Given the description of an element on the screen output the (x, y) to click on. 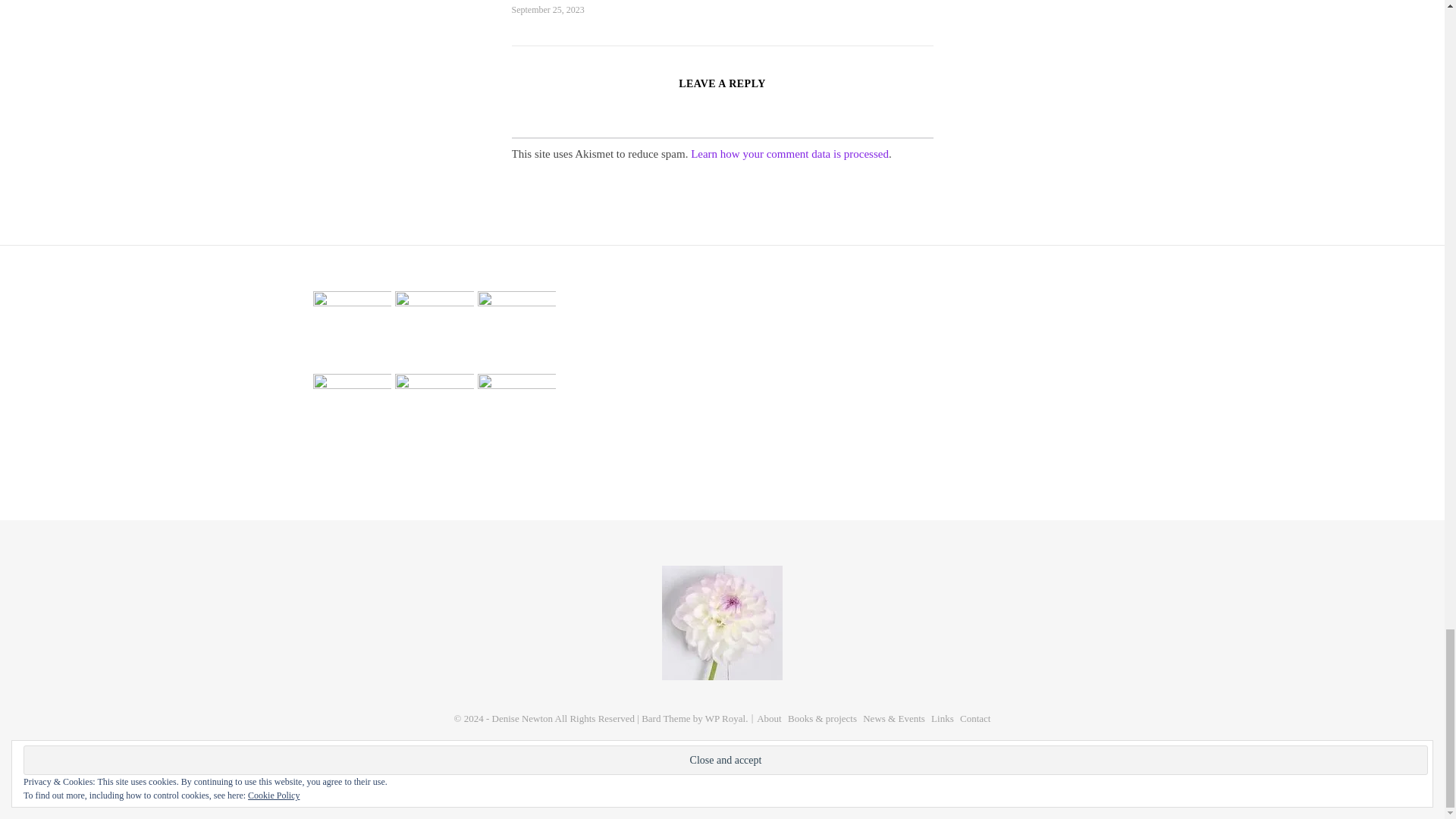
BACK TO TOP (722, 761)
